Given the description of an element on the screen output the (x, y) to click on. 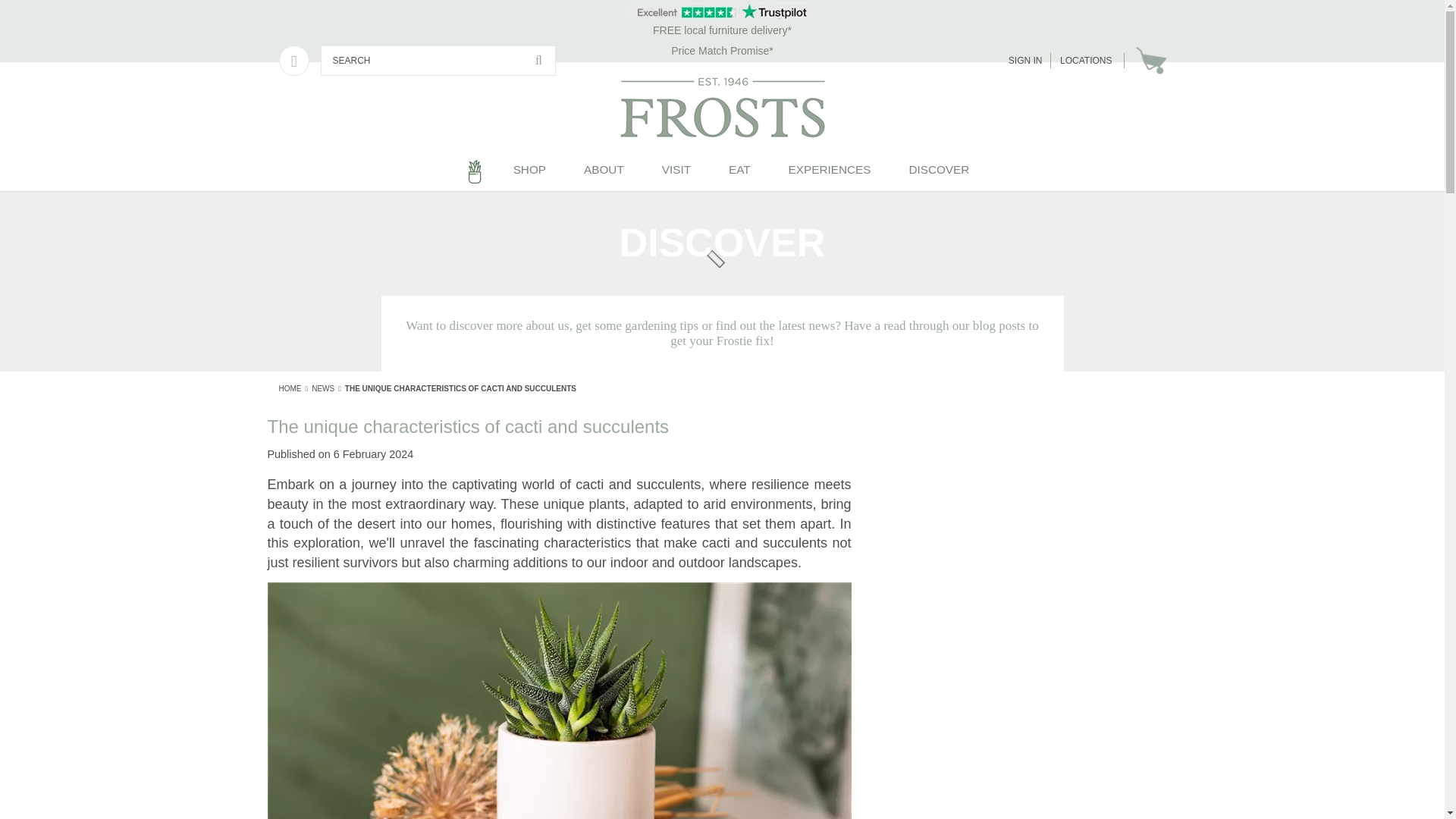
News (322, 388)
The unique characteristics of cacti and succulents (460, 388)
Phone (293, 60)
LOCATIONS (1085, 60)
LOCATIONS (1085, 60)
NEWS (322, 388)
SIGN IN (1025, 60)
SHOP (529, 171)
Frosts Garden Centres (721, 107)
Home (476, 171)
